Given the description of an element on the screen output the (x, y) to click on. 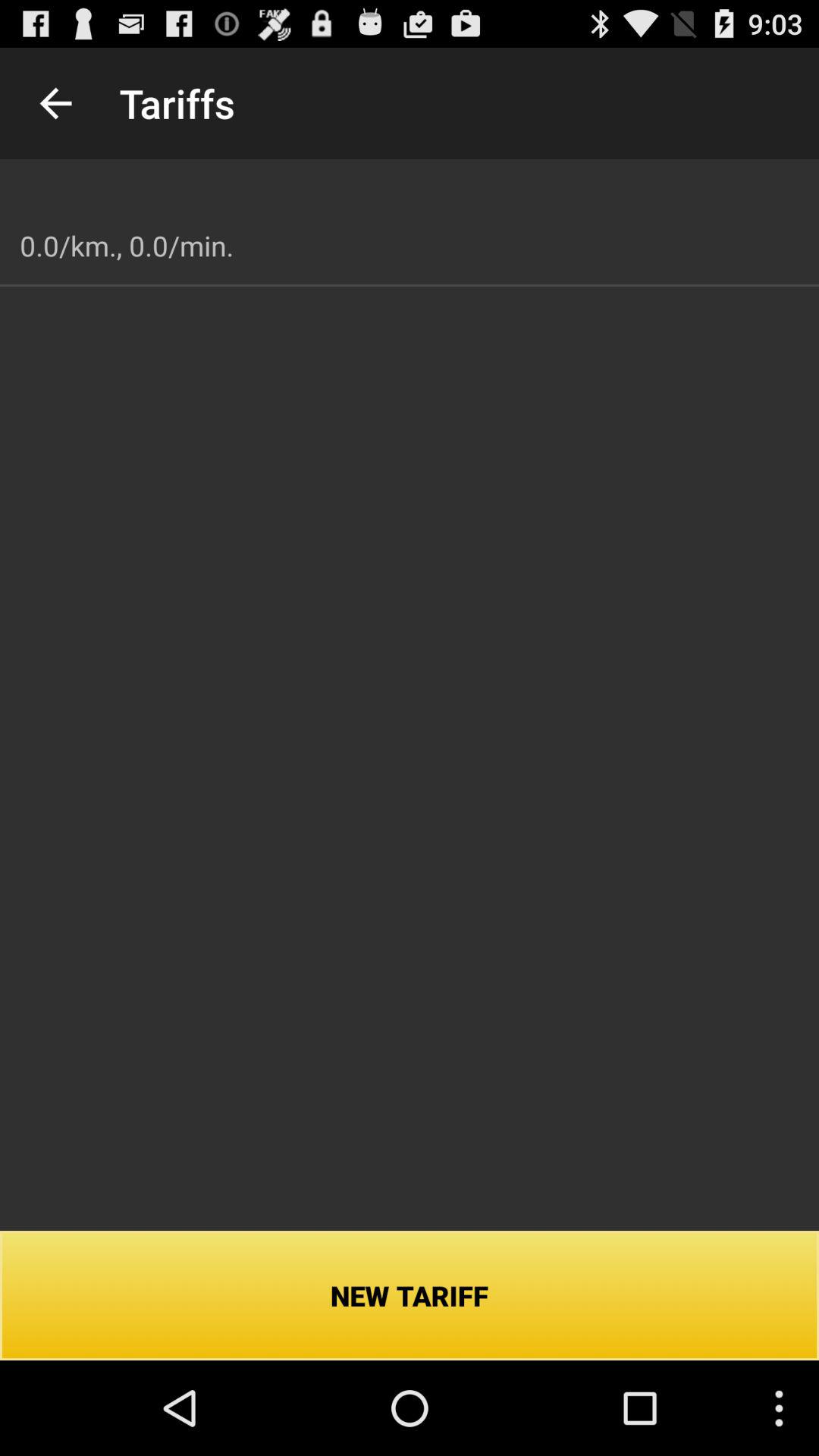
select new tariff (409, 1295)
